Given the description of an element on the screen output the (x, y) to click on. 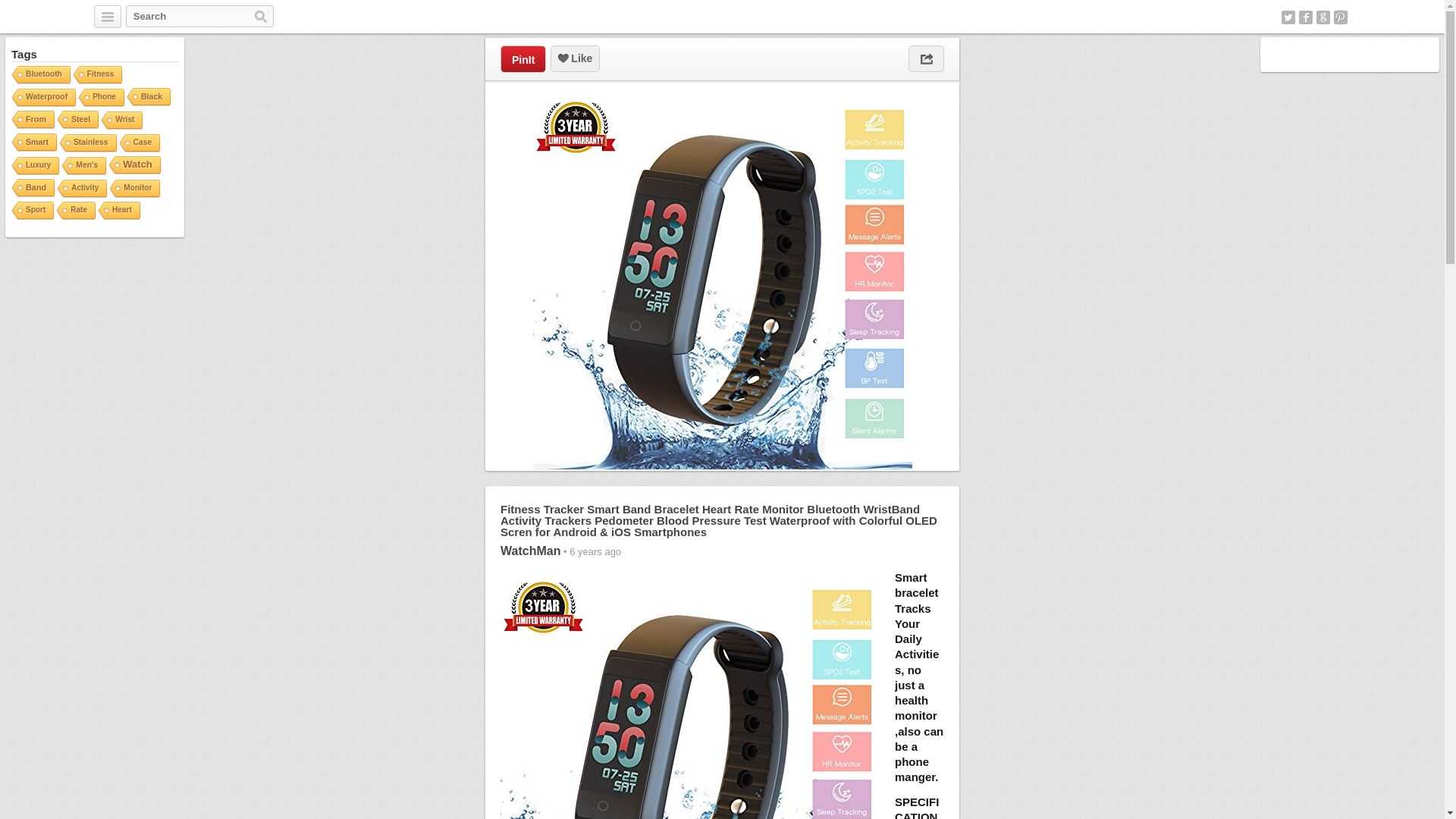
Monitor (132, 189)
Waterproof (42, 97)
Case (138, 143)
Rate (74, 210)
Watch (133, 165)
Band (31, 188)
Twitter (1288, 17)
Stainless (87, 143)
PinIt (523, 58)
Smart (33, 142)
